Given the description of an element on the screen output the (x, y) to click on. 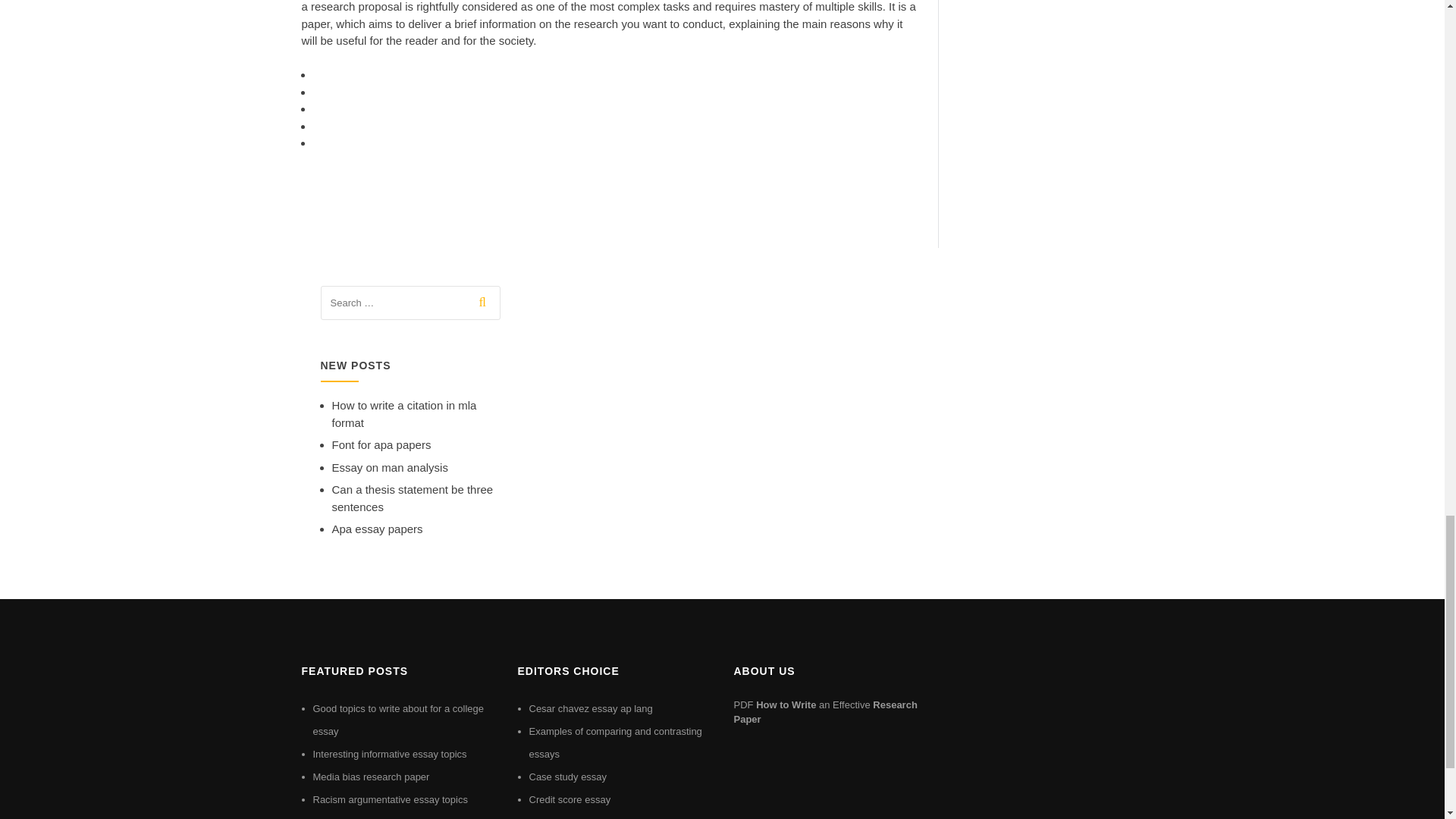
Persuasive essay about earrings (600, 817)
Good topics to write about for a college essay (398, 719)
How to write a citation in mla format (404, 413)
Font for apa papers (380, 444)
Racism argumentative essay topics (390, 799)
Cesar chavez essay ap lang (590, 708)
Can a thesis statement be three sentences (412, 498)
Apa essay papers (377, 528)
Media bias research paper (371, 776)
Where to put the thesis statement (386, 817)
Credit score essay (570, 799)
Case study essay (568, 776)
Examples of comparing and contrasting essays (615, 742)
Essay on man analysis (389, 467)
Interesting informative essay topics (389, 754)
